Given the description of an element on the screen output the (x, y) to click on. 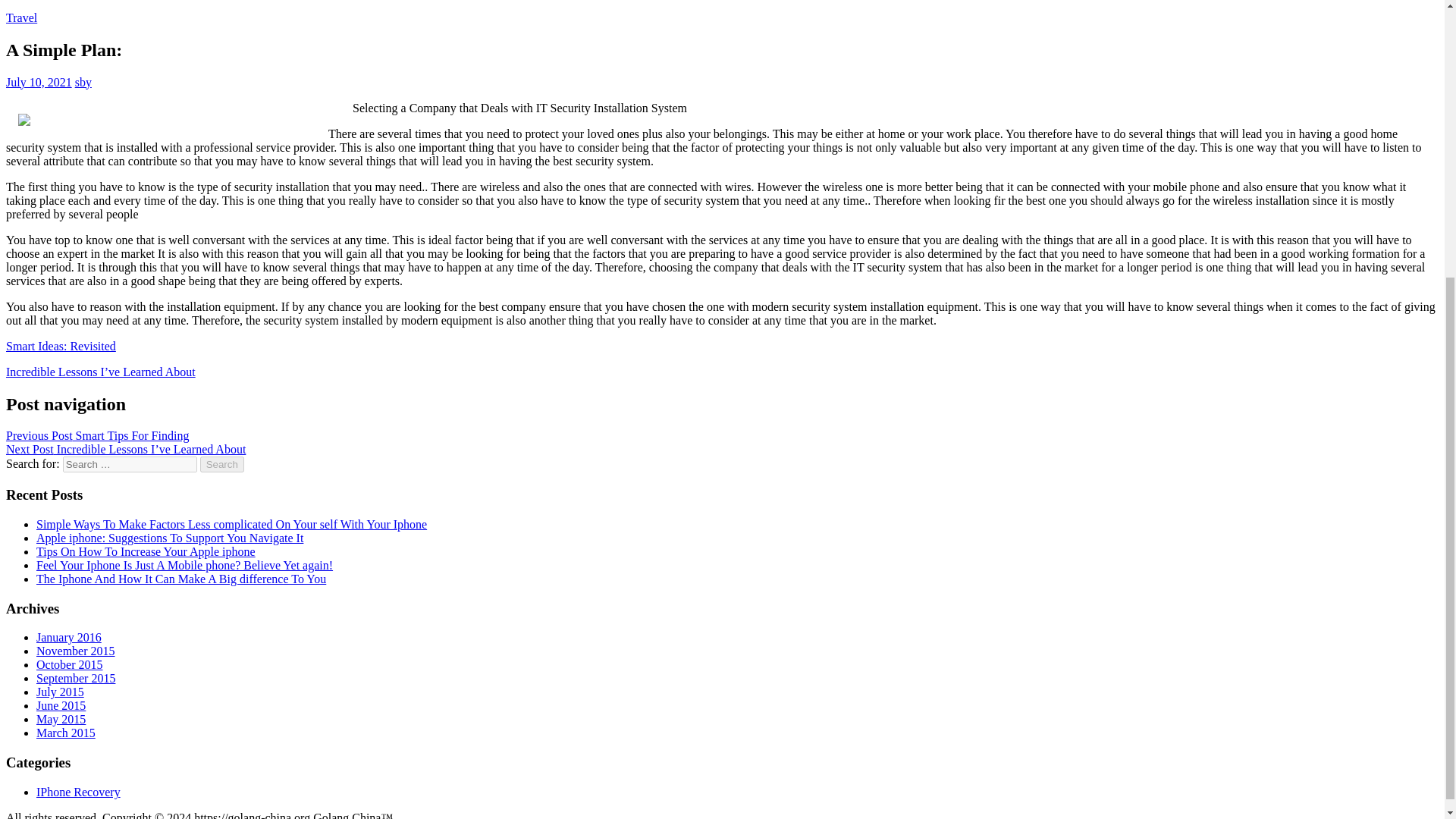
July 10, 2021 (38, 82)
Smart Ideas: Revisited (60, 345)
sby (83, 82)
June 2015 (60, 705)
Tips On How To Increase Your Apple iphone (146, 551)
November 2015 (75, 650)
March 2015 (66, 732)
Apple iphone: Suggestions To Support You Navigate It (169, 537)
September 2015 (75, 677)
July 2015 (60, 691)
